Given the description of an element on the screen output the (x, y) to click on. 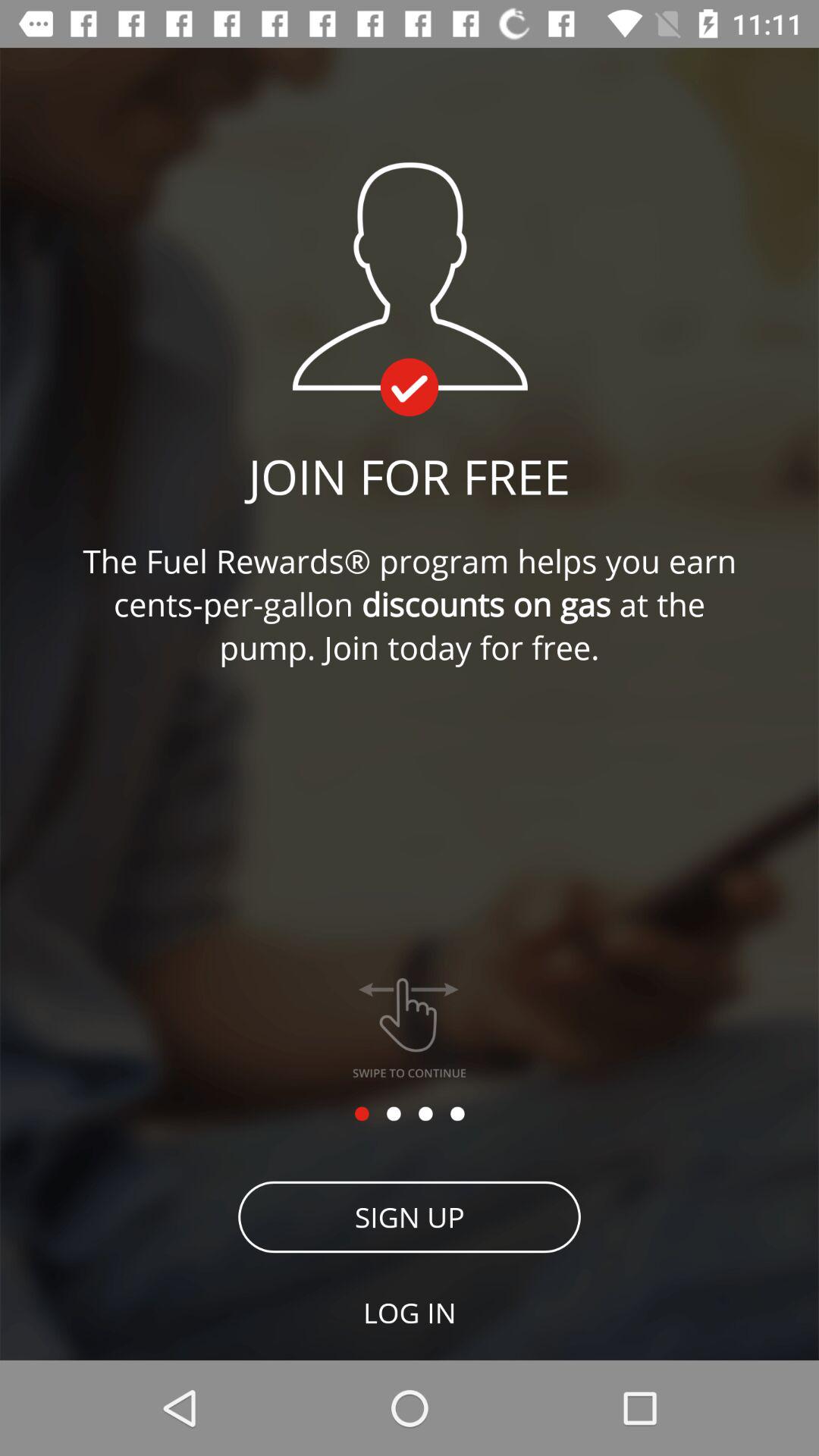
turn on the sign up (409, 1216)
